Given the description of an element on the screen output the (x, y) to click on. 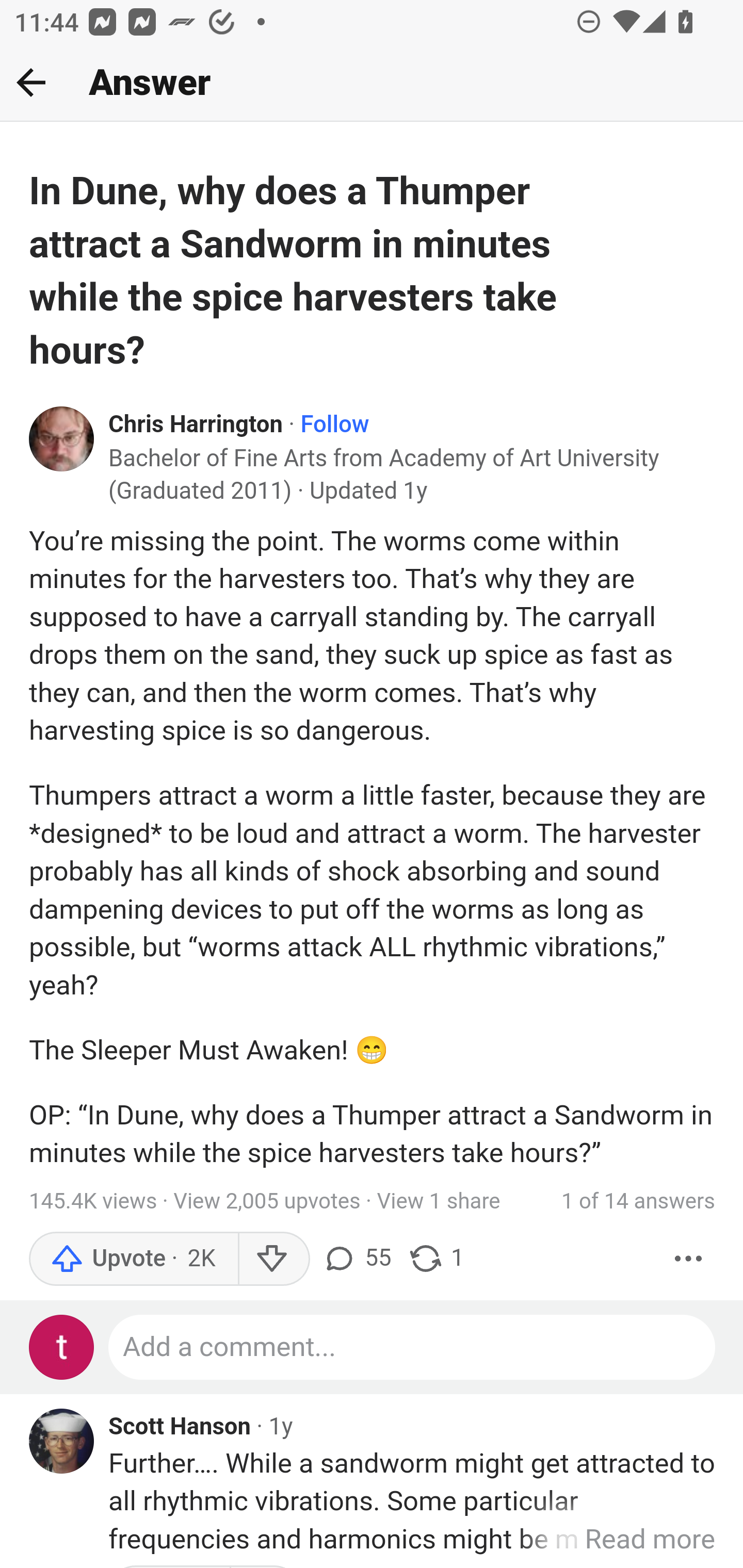
Back Answer (371, 82)
Back (30, 82)
Profile photo for Chris Harrington (61, 437)
Chris Harrington (195, 425)
Follow (334, 425)
Updated 1y Updated  1 y (367, 491)
View 2,005 upvotes (267, 1200)
View 1 share (438, 1200)
1 of 14 answers (637, 1200)
Upvote (133, 1257)
Downvote (273, 1257)
55 comments (356, 1257)
1 share (435, 1257)
More (688, 1257)
Profile photo for Test Appium (61, 1346)
Add a comment... (412, 1346)
Profile photo for Scott Hanson (61, 1439)
Scott Hanson (180, 1427)
1y 1 y (280, 1426)
